Given the description of an element on the screen output the (x, y) to click on. 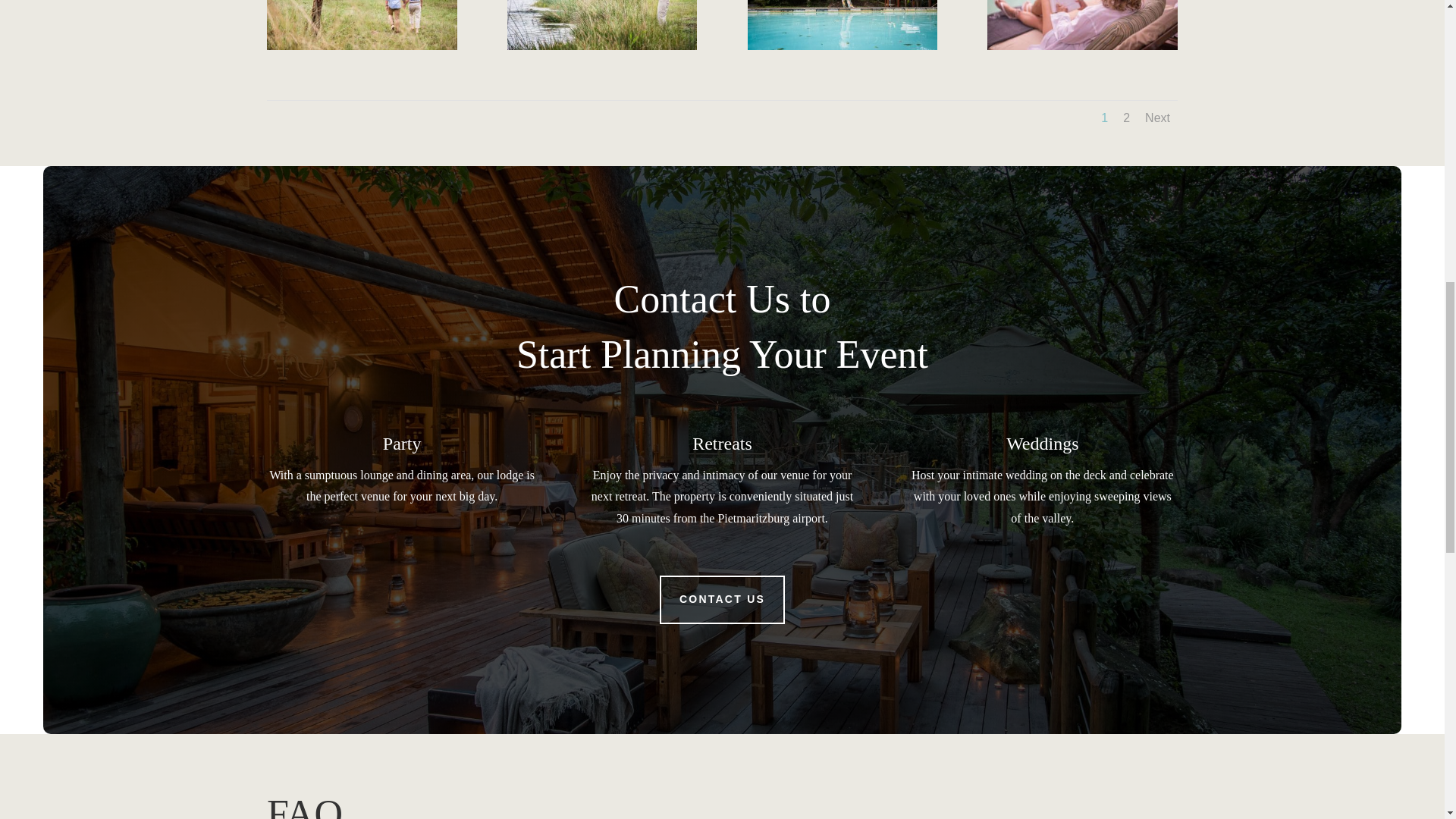
3051Chris Allan Photography- (842, 46)
CONTACT US (721, 599)
7277Chris Allan Photography- (361, 46)
7194Chris Allan Photography- (601, 46)
2971Chris Allan Photography- (1082, 46)
Next (1157, 117)
